Given the description of an element on the screen output the (x, y) to click on. 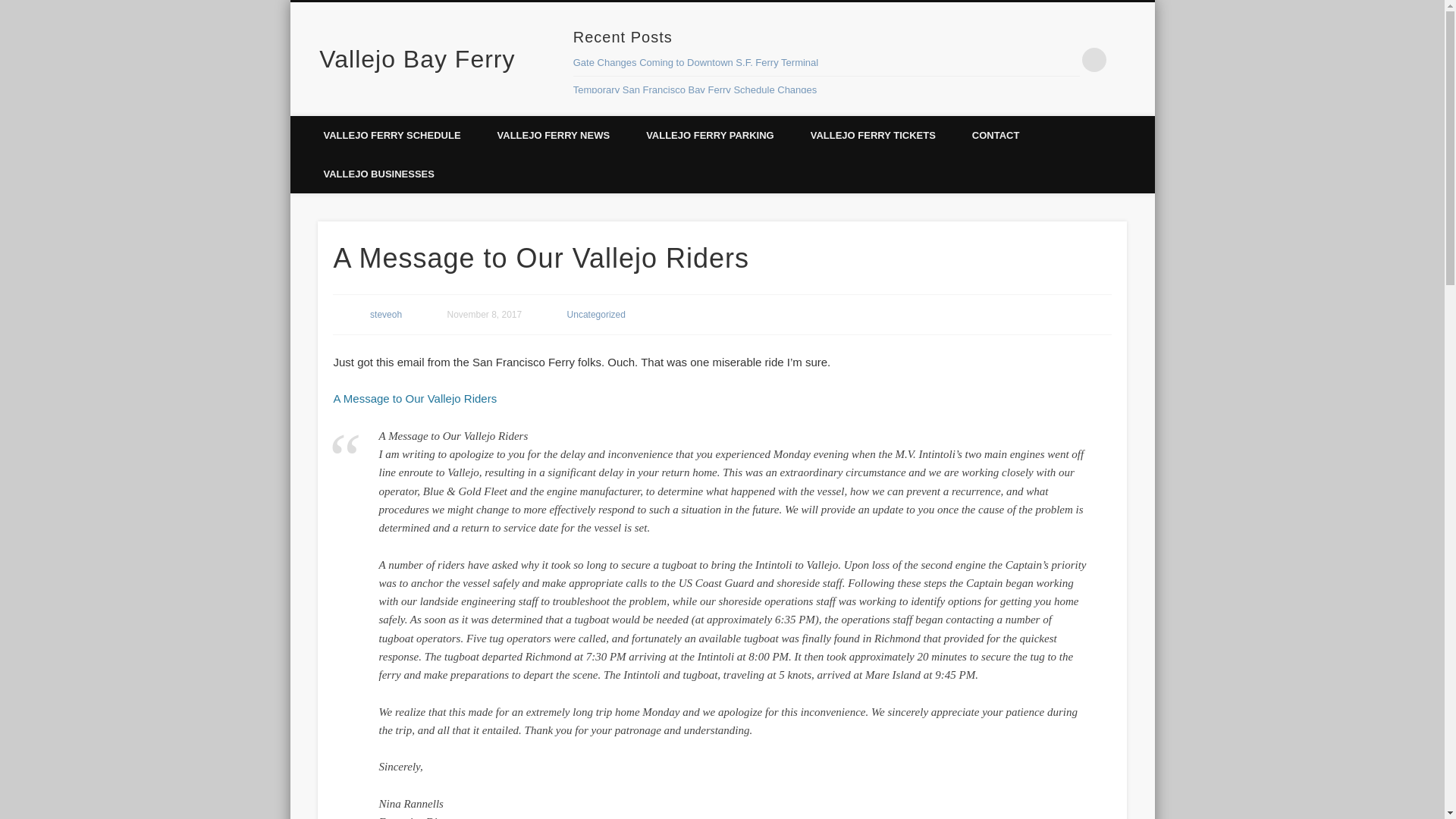
Vallejo Bay Ferry (416, 58)
Posts by steveoh (385, 314)
Search (11, 7)
Temporary San Francisco Bay Ferry Schedule Changes (694, 89)
Gate Changes Coming to Downtown S.F. Ferry Terminal (695, 61)
